Given the description of an element on the screen output the (x, y) to click on. 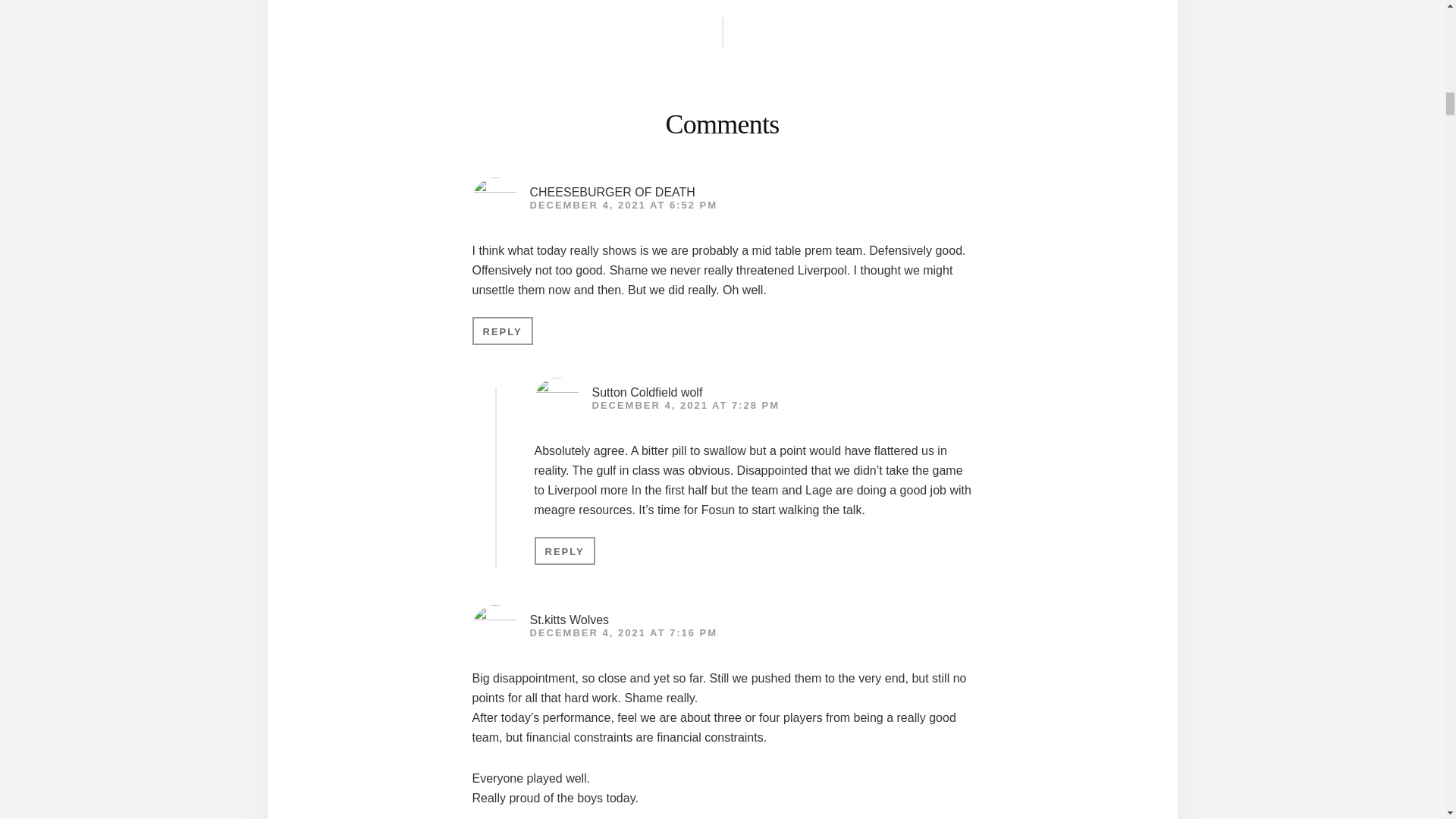
REPLY (564, 551)
REPLY (501, 330)
DECEMBER 4, 2021 AT 7:28 PM (684, 405)
DECEMBER 4, 2021 AT 6:52 PM (623, 204)
DECEMBER 4, 2021 AT 7:16 PM (623, 632)
